Given the description of an element on the screen output the (x, y) to click on. 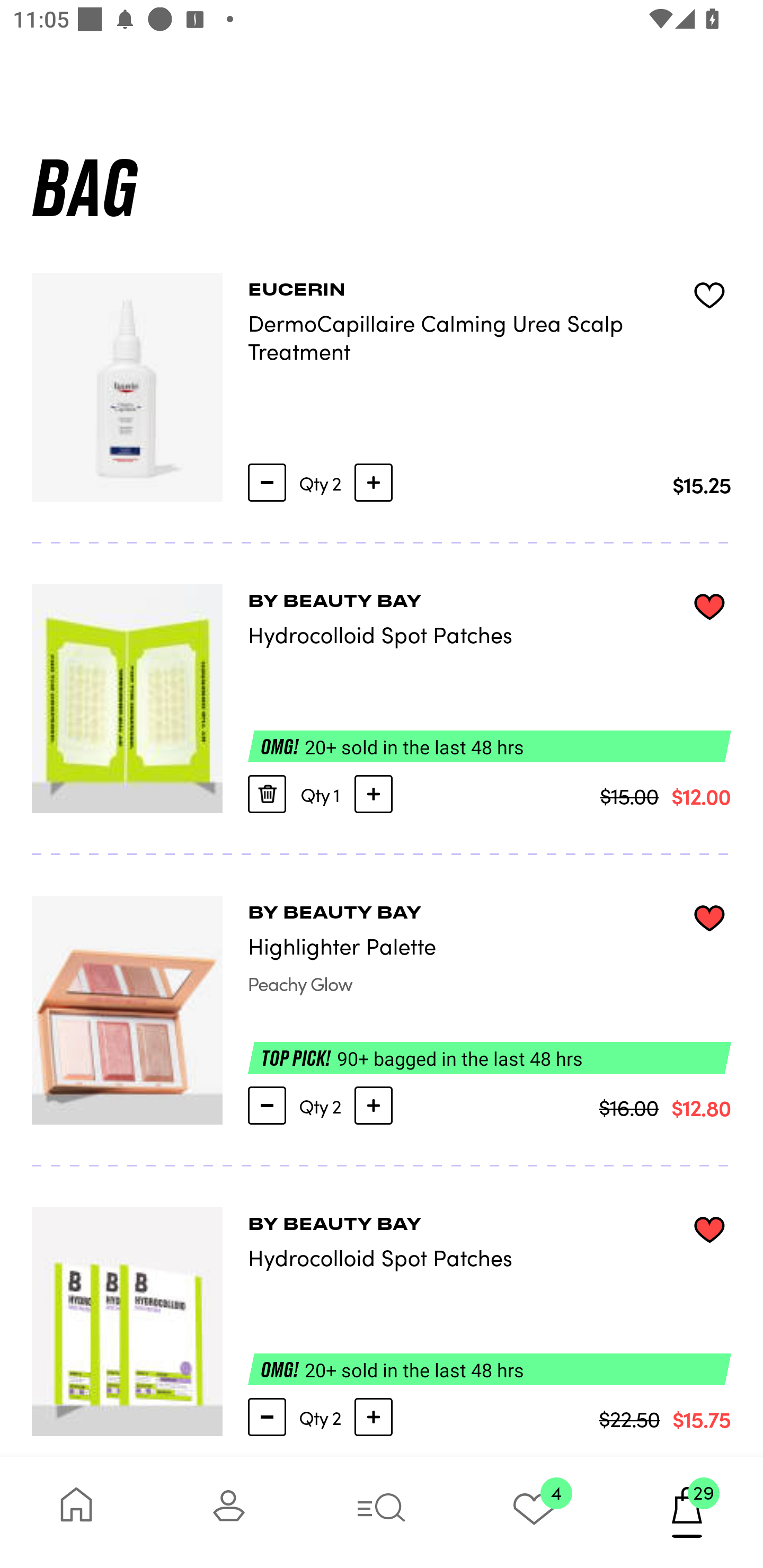
4 (533, 1512)
29 (686, 1512)
